Given the description of an element on the screen output the (x, y) to click on. 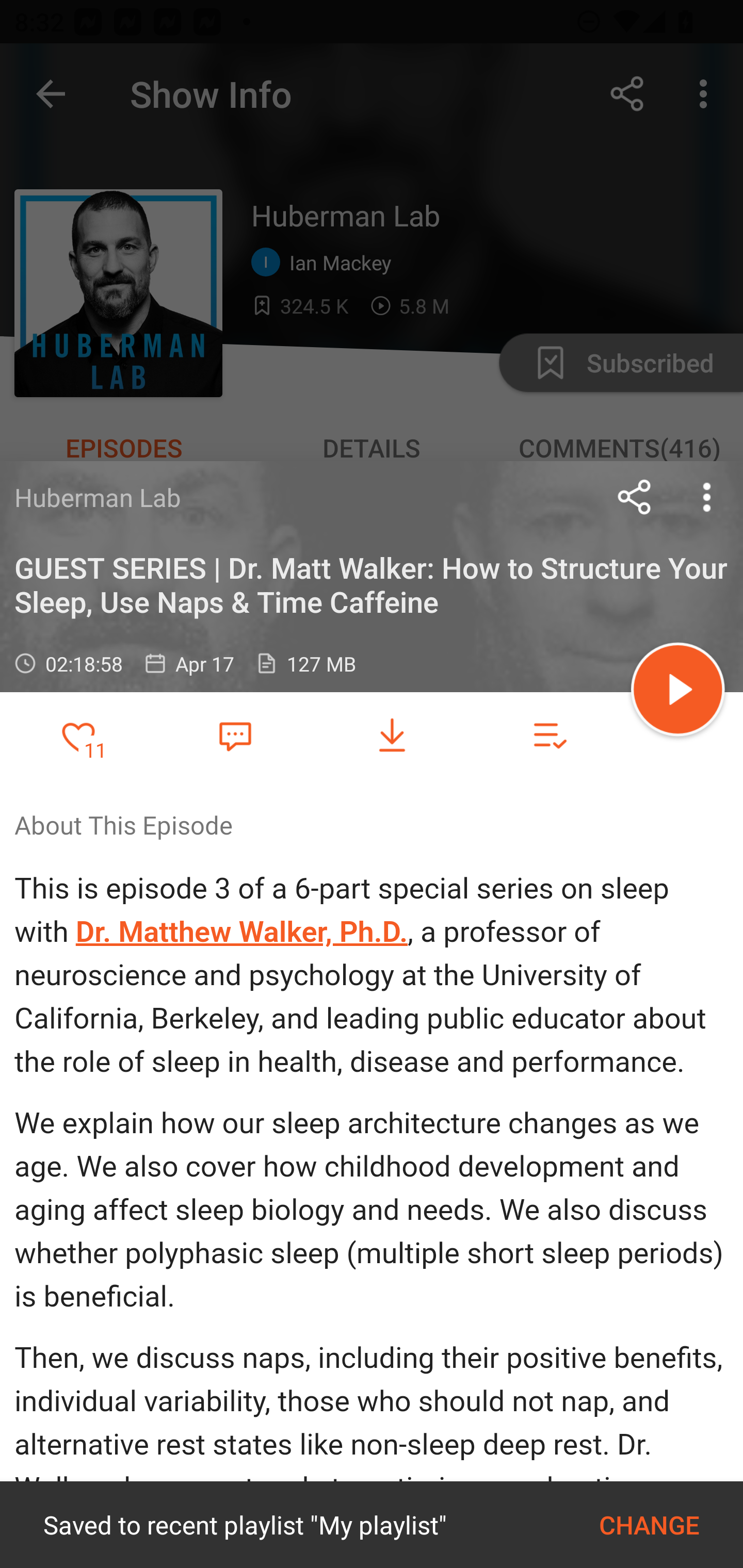
Share (634, 496)
more options (706, 496)
Play (677, 692)
Favorite (234, 735)
Add to Favorites (78, 735)
Download (391, 735)
Add to playlist (548, 735)
Dr. Matthew Walker, Ph.D. (241, 932)
Saved to recent playlist "My playlist" CHANGE (371, 1524)
CHANGE (648, 1524)
